Given the description of an element on the screen output the (x, y) to click on. 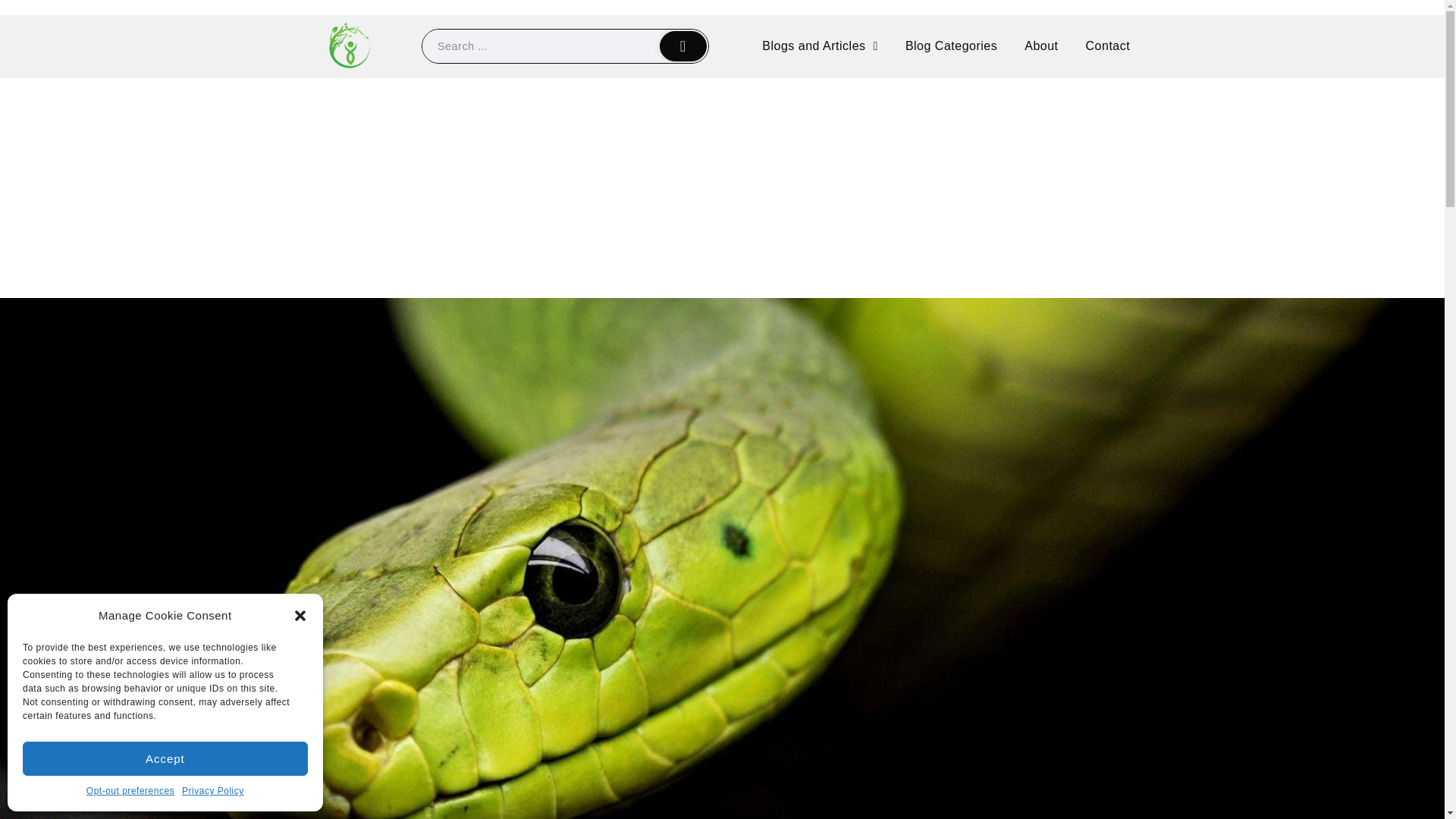
Privacy Policy (213, 791)
Blogs and Articles (819, 46)
Contact (1107, 46)
Blog Categories (950, 46)
Accept (165, 758)
Opt-out preferences (129, 791)
About (1040, 46)
